Given the description of an element on the screen output the (x, y) to click on. 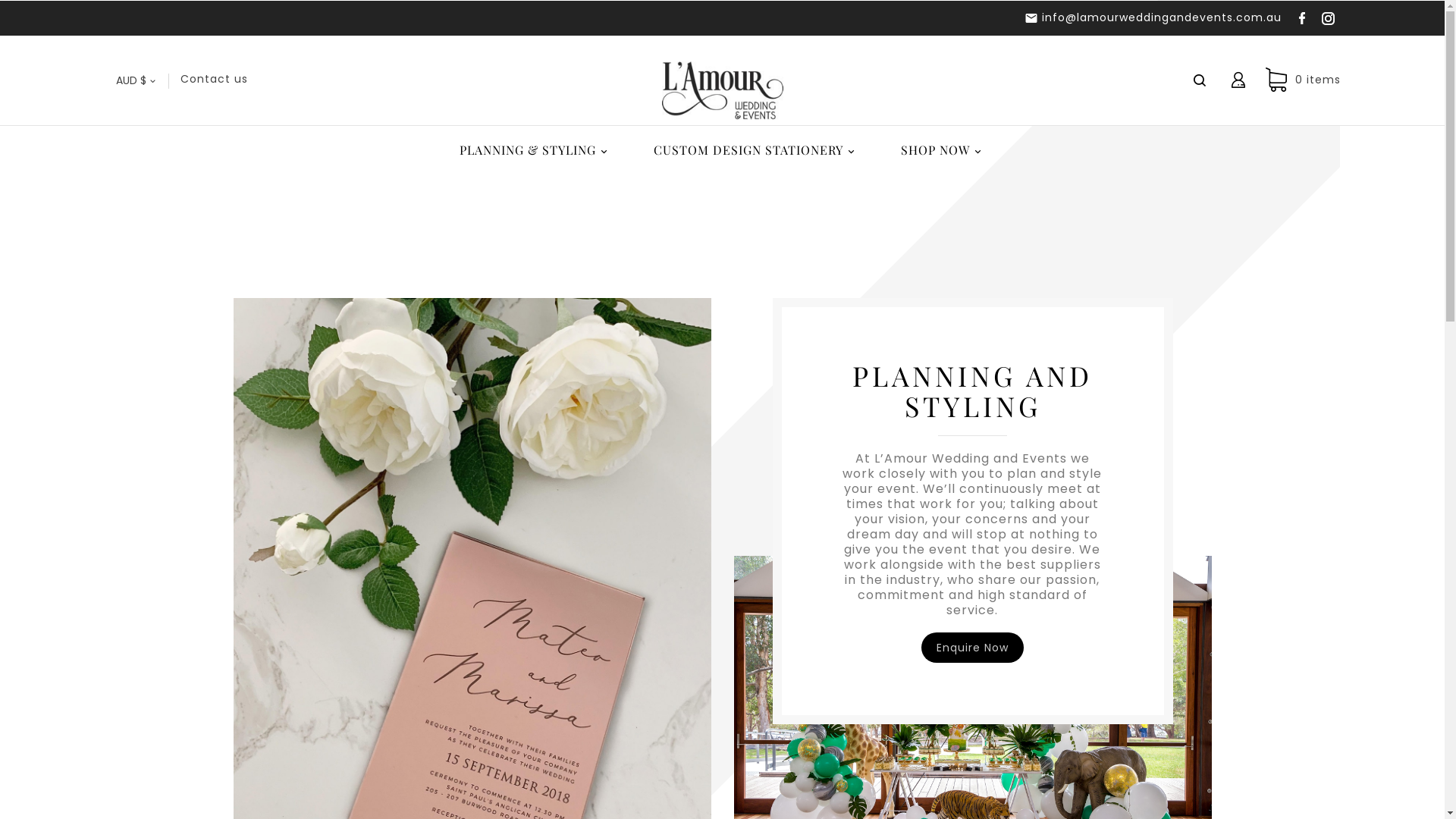
Contact us Element type: text (213, 78)
Enquire Now Element type: text (972, 647)
0 items Element type: text (1298, 80)
